Given the description of an element on the screen output the (x, y) to click on. 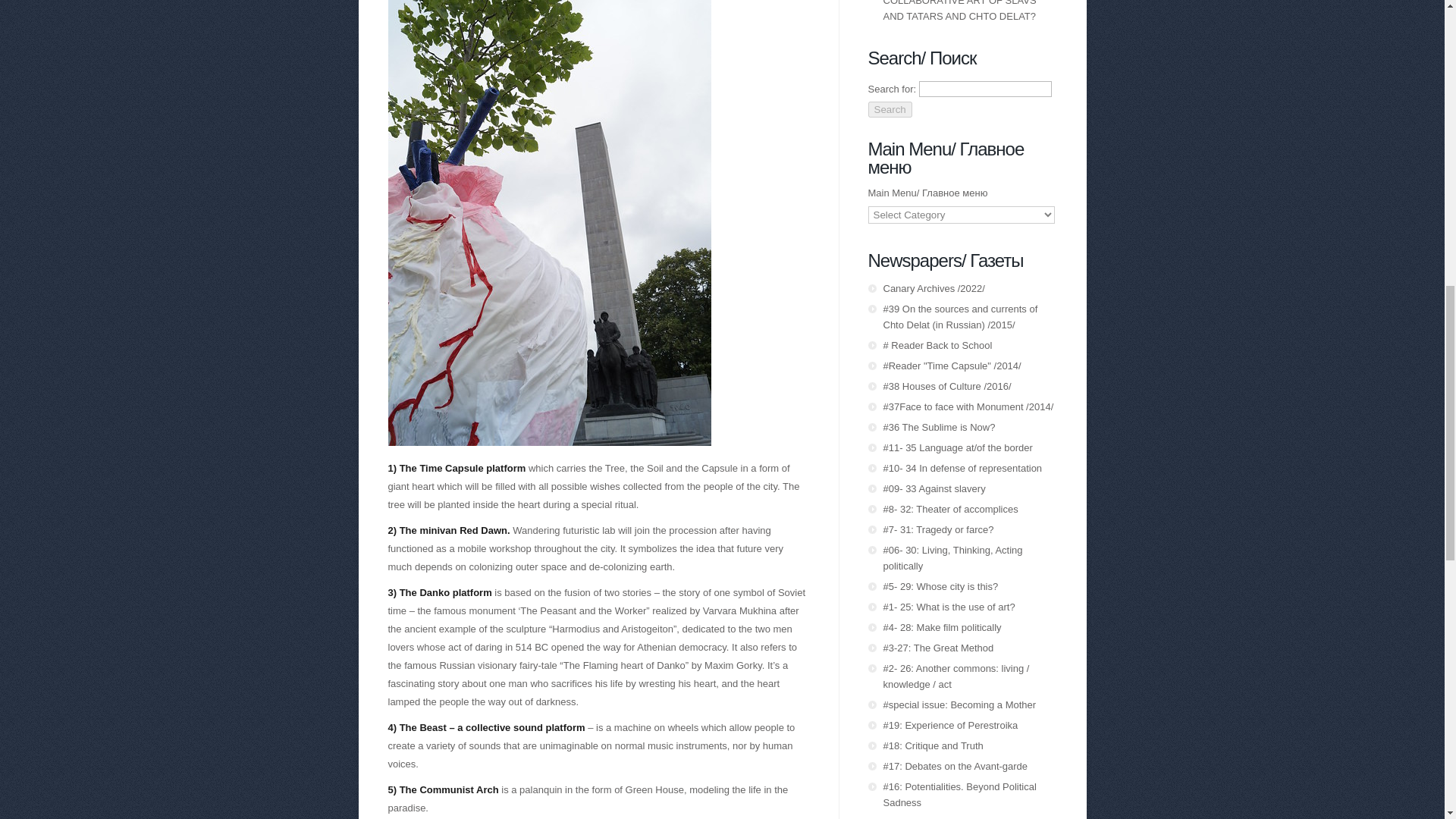
Search (889, 109)
Search (889, 109)
